Given the description of an element on the screen output the (x, y) to click on. 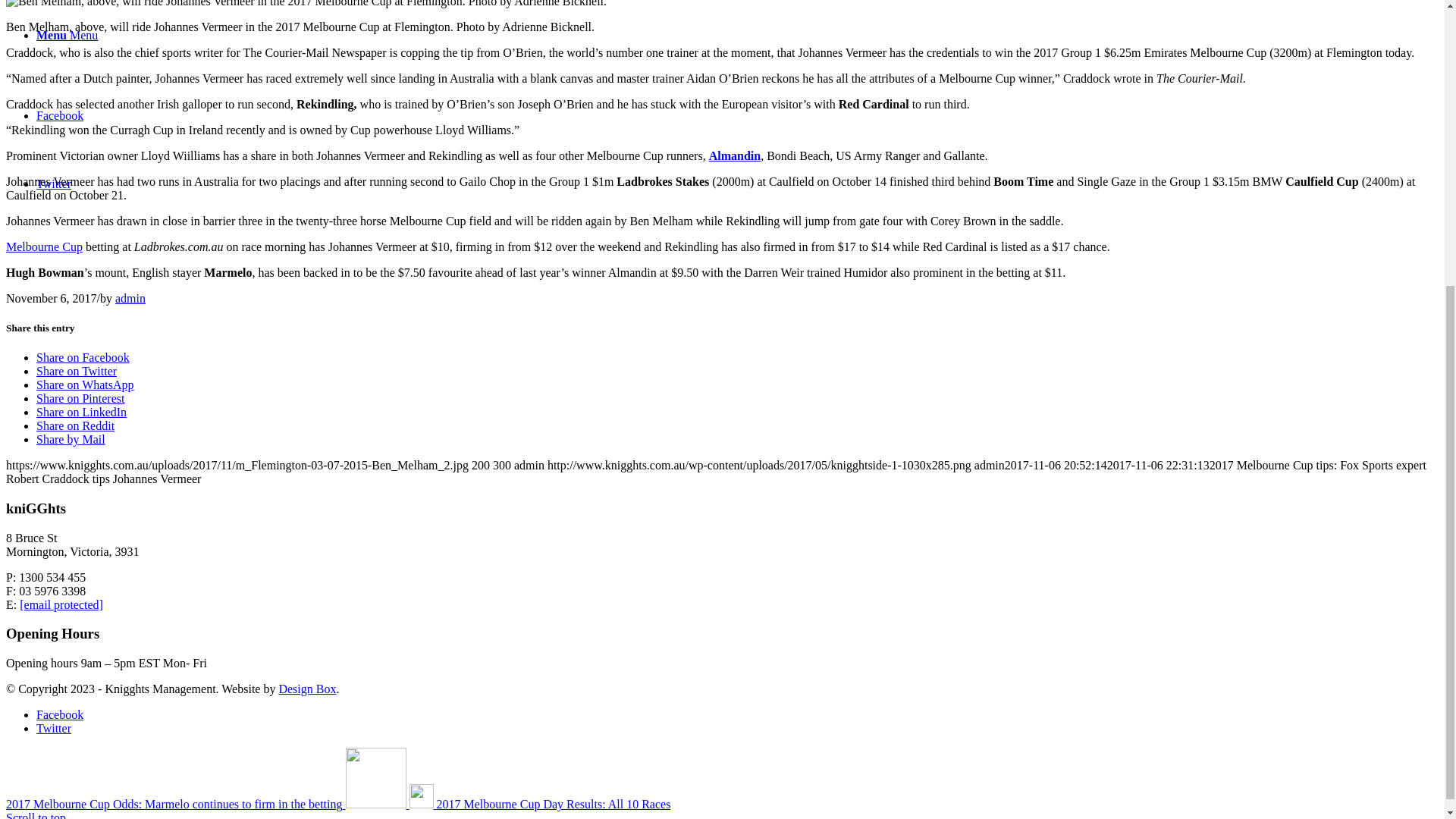
Share on Twitter (76, 370)
Facebook (59, 115)
Twitter (53, 727)
Menu Menu (66, 34)
Melbourne Cup (43, 246)
Share on Pinterest (79, 398)
Design Box (307, 688)
Posts by admin (130, 297)
Facebook (59, 714)
